Given the description of an element on the screen output the (x, y) to click on. 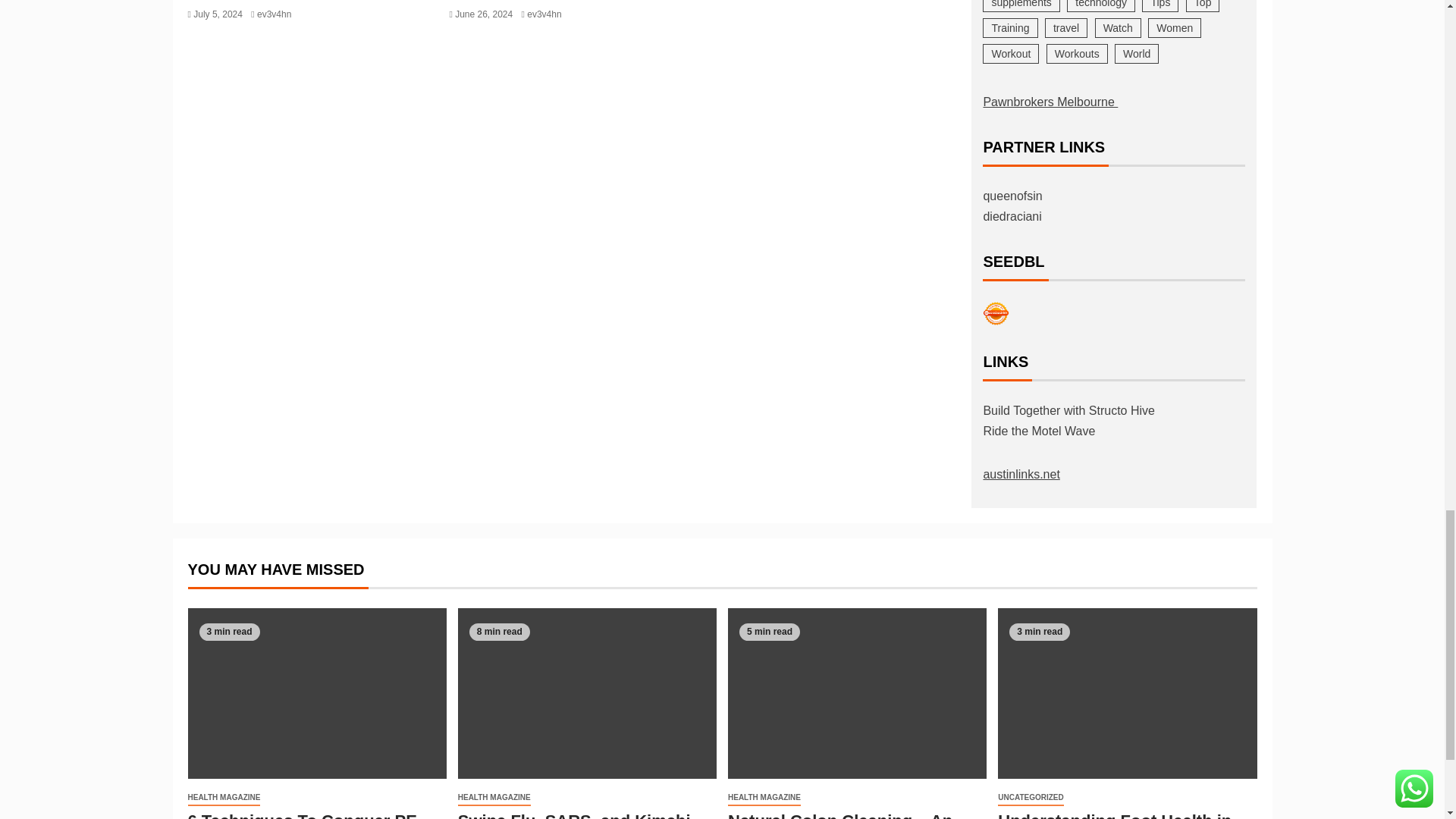
Seedbacklink (995, 313)
